Given the description of an element on the screen output the (x, y) to click on. 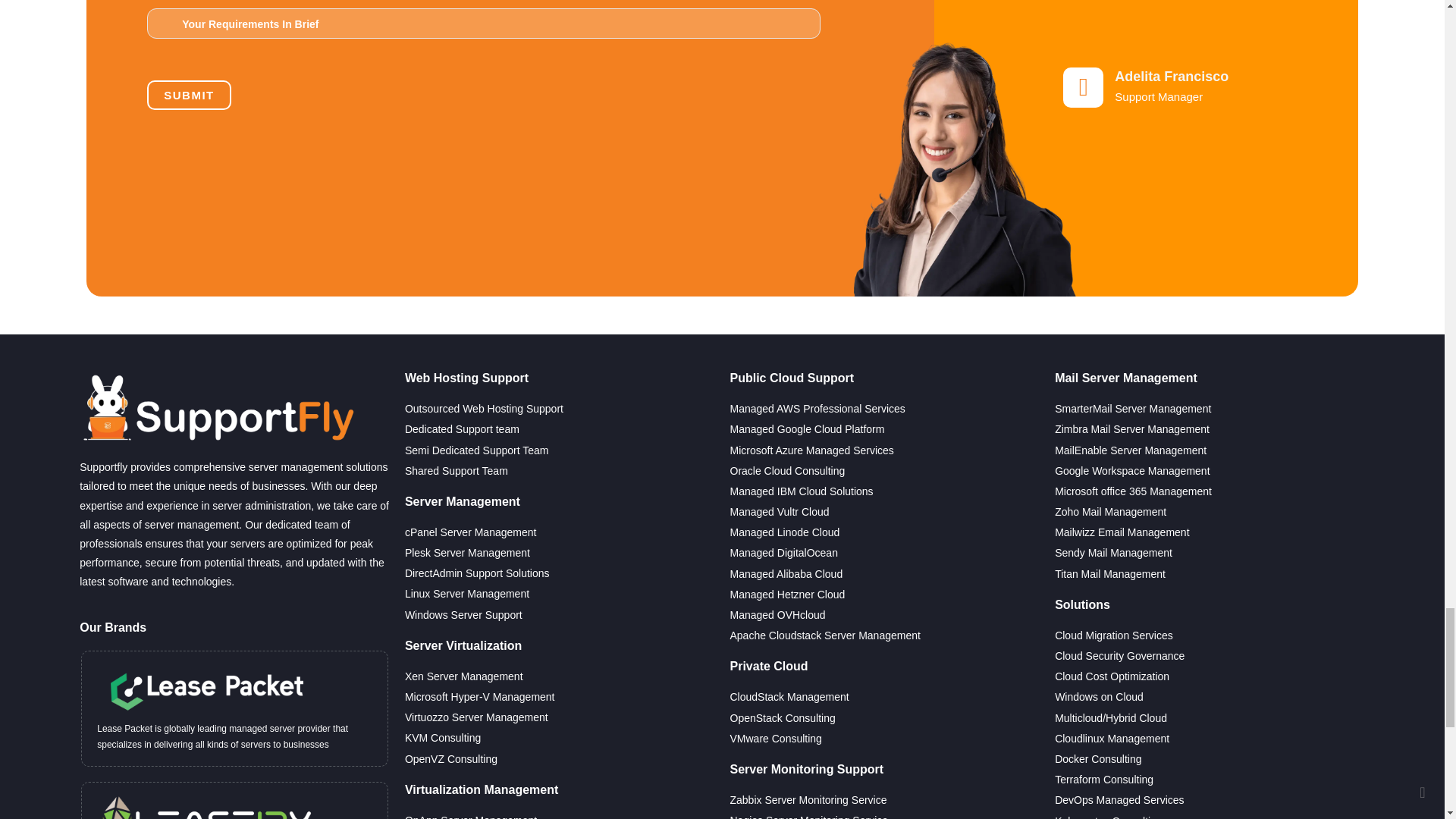
Submit (189, 94)
